Given the description of an element on the screen output the (x, y) to click on. 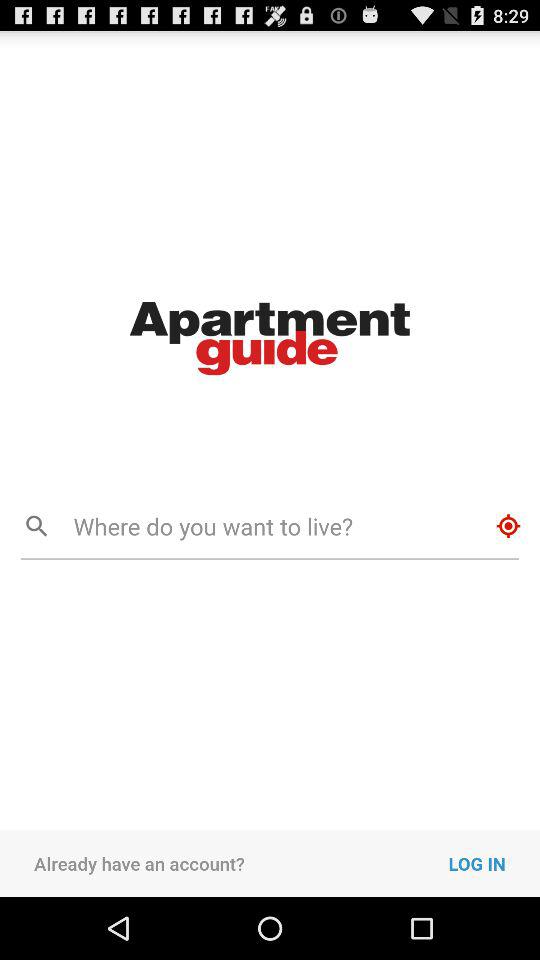
tap the icon at the bottom right corner (494, 863)
